Given the description of an element on the screen output the (x, y) to click on. 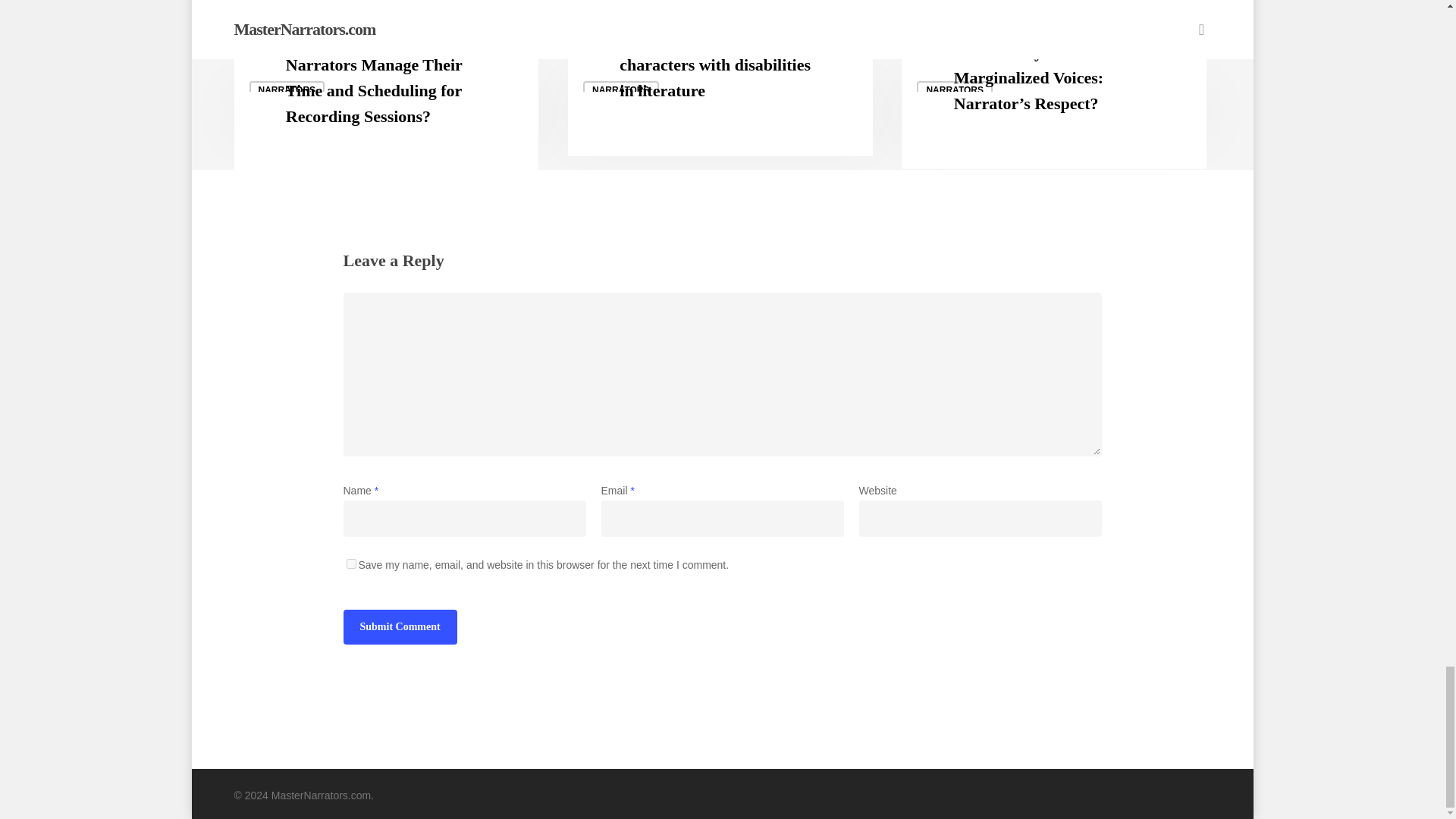
Submit Comment (399, 626)
Submit Comment (399, 626)
yes (350, 563)
NARRATORS (621, 90)
NARRATORS (954, 90)
NARRATORS (286, 90)
